Given the description of an element on the screen output the (x, y) to click on. 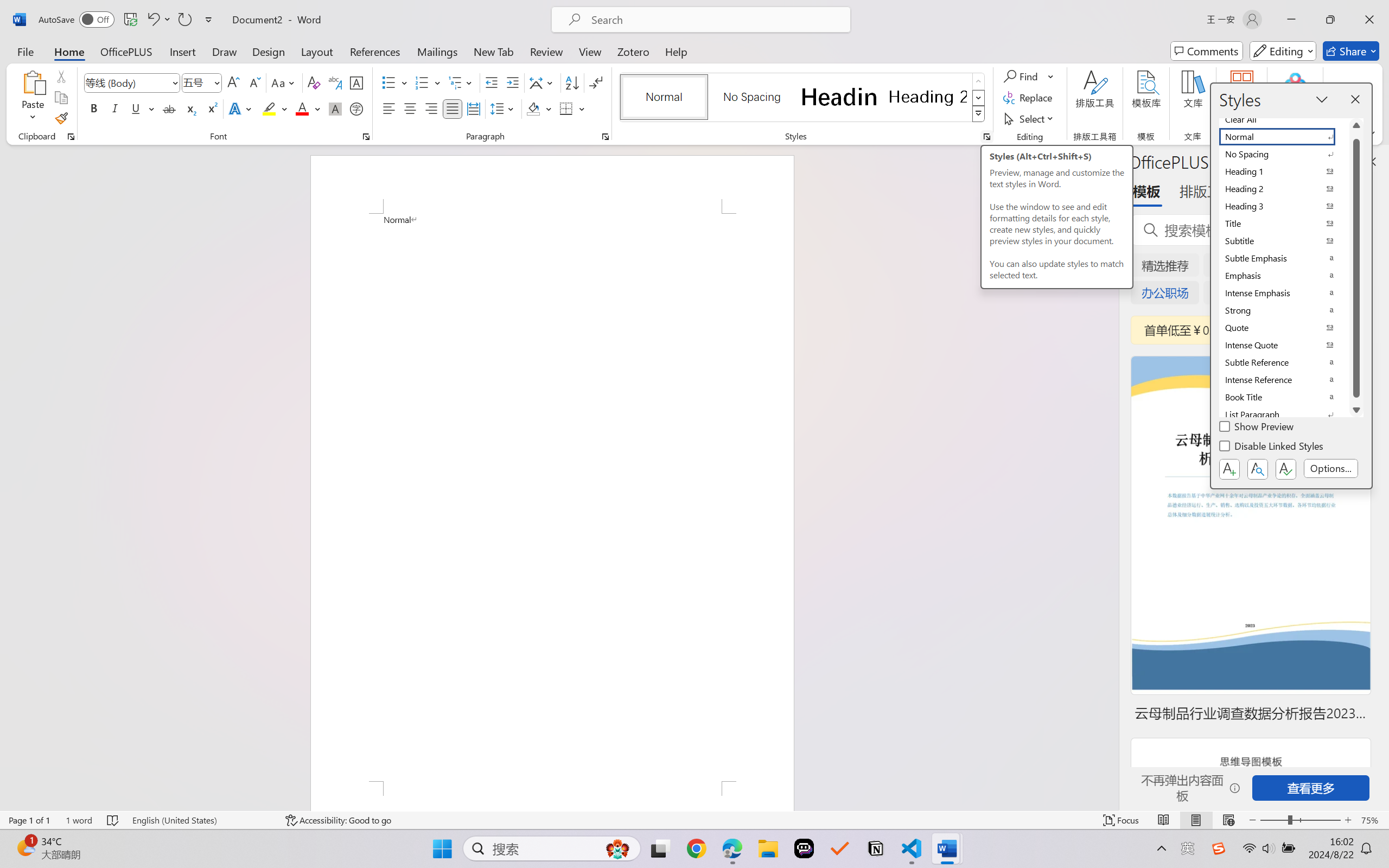
Increase Indent (512, 82)
Numbering (428, 82)
Show/Hide Editing Marks (595, 82)
Asian Layout (542, 82)
Text Highlight Color Yellow (269, 108)
Row Down (978, 97)
Character Shading (334, 108)
Close (1369, 19)
Repeat Doc Close (184, 19)
Intense Emphasis (1283, 293)
Options... (1331, 468)
